Given the description of an element on the screen output the (x, y) to click on. 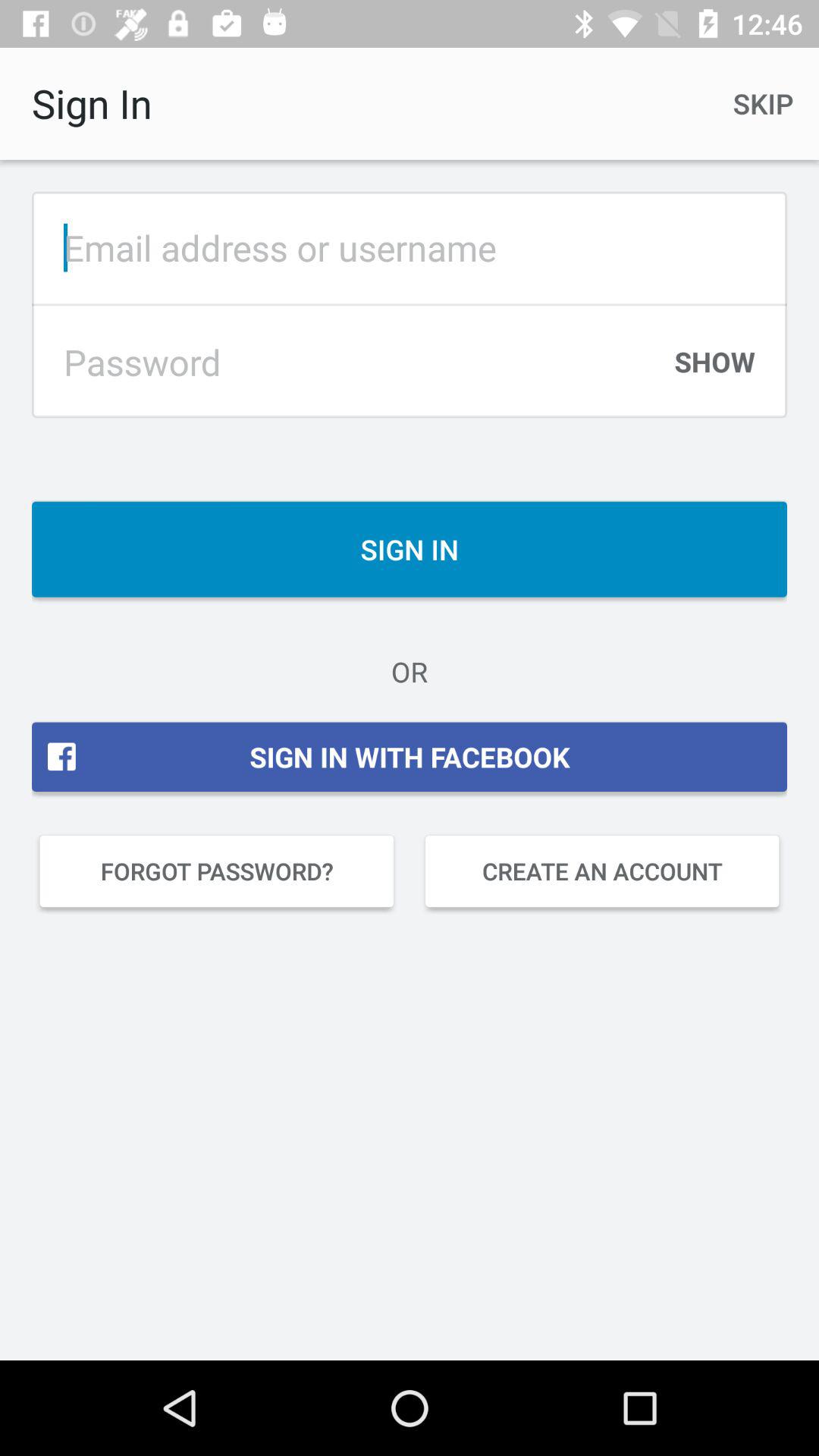
click icon above sign in icon (714, 369)
